Given the description of an element on the screen output the (x, y) to click on. 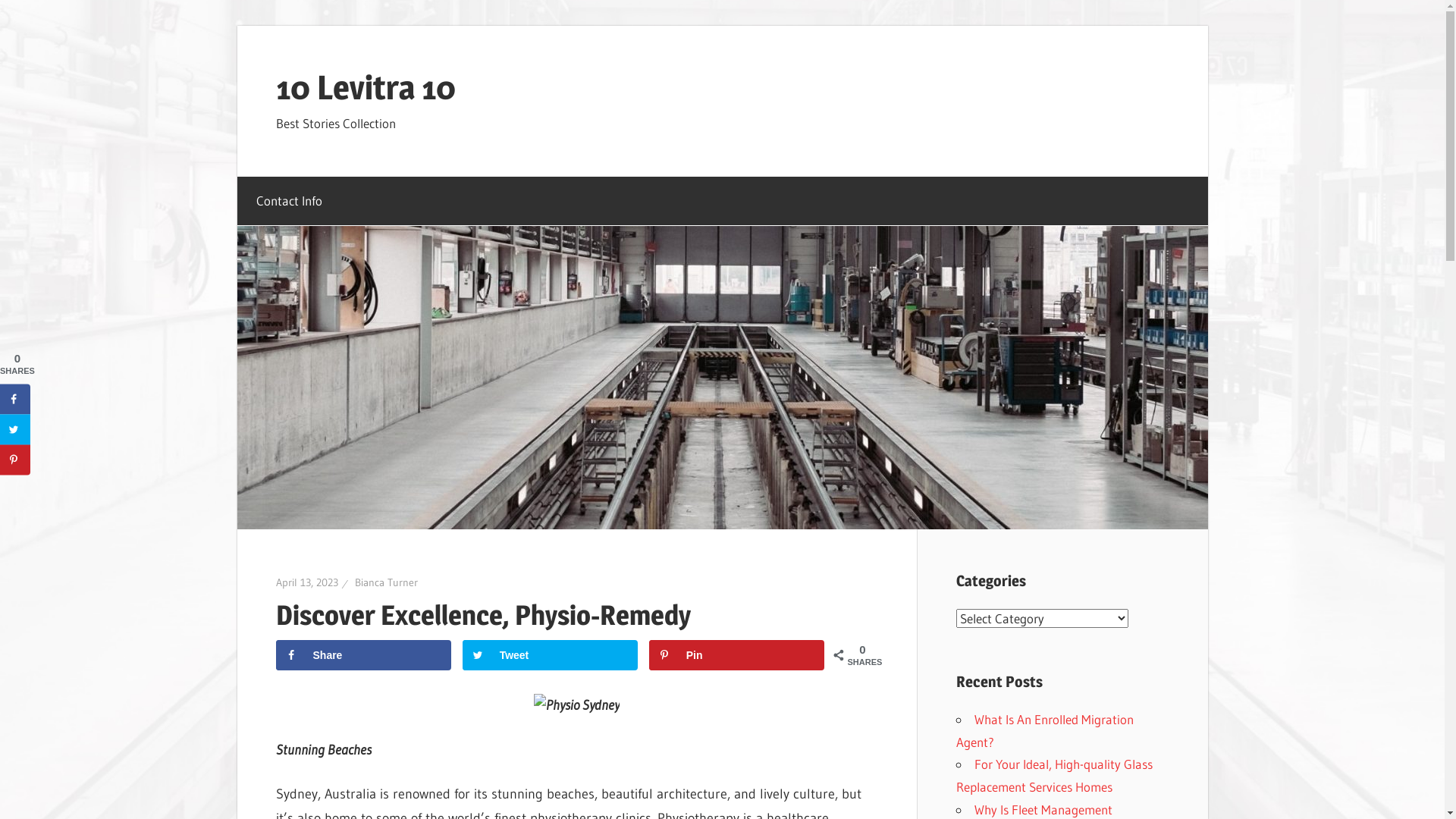
Bianca Turner Element type: text (385, 582)
Skip to content Element type: text (236, 25)
10 Levitra 10 Element type: text (365, 86)
Share on Twitter Element type: hover (15, 429)
Physio Sydney Element type: hover (576, 705)
April 13, 2023 Element type: text (307, 582)
Pin Element type: text (737, 655)
Tweet Element type: text (550, 655)
What Is An Enrolled Migration Agent? Element type: text (1043, 730)
Contact Info Element type: text (288, 200)
Share on Facebook Element type: hover (15, 398)
Share Element type: text (363, 655)
Save to Pinterest Element type: hover (15, 459)
